Given the description of an element on the screen output the (x, y) to click on. 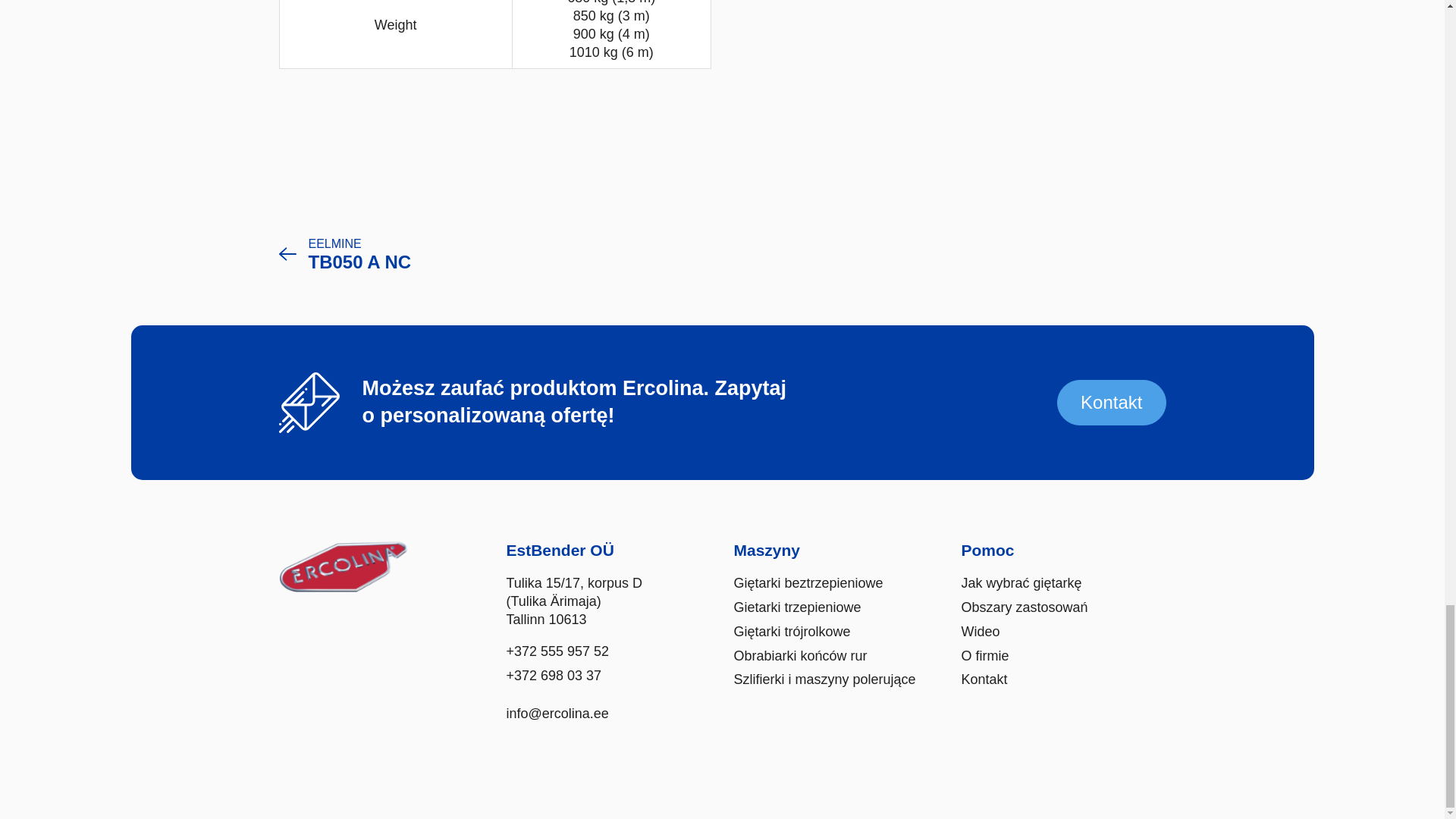
Kontakt (345, 253)
Gietarki trzepieniowe (1111, 402)
